Given the description of an element on the screen output the (x, y) to click on. 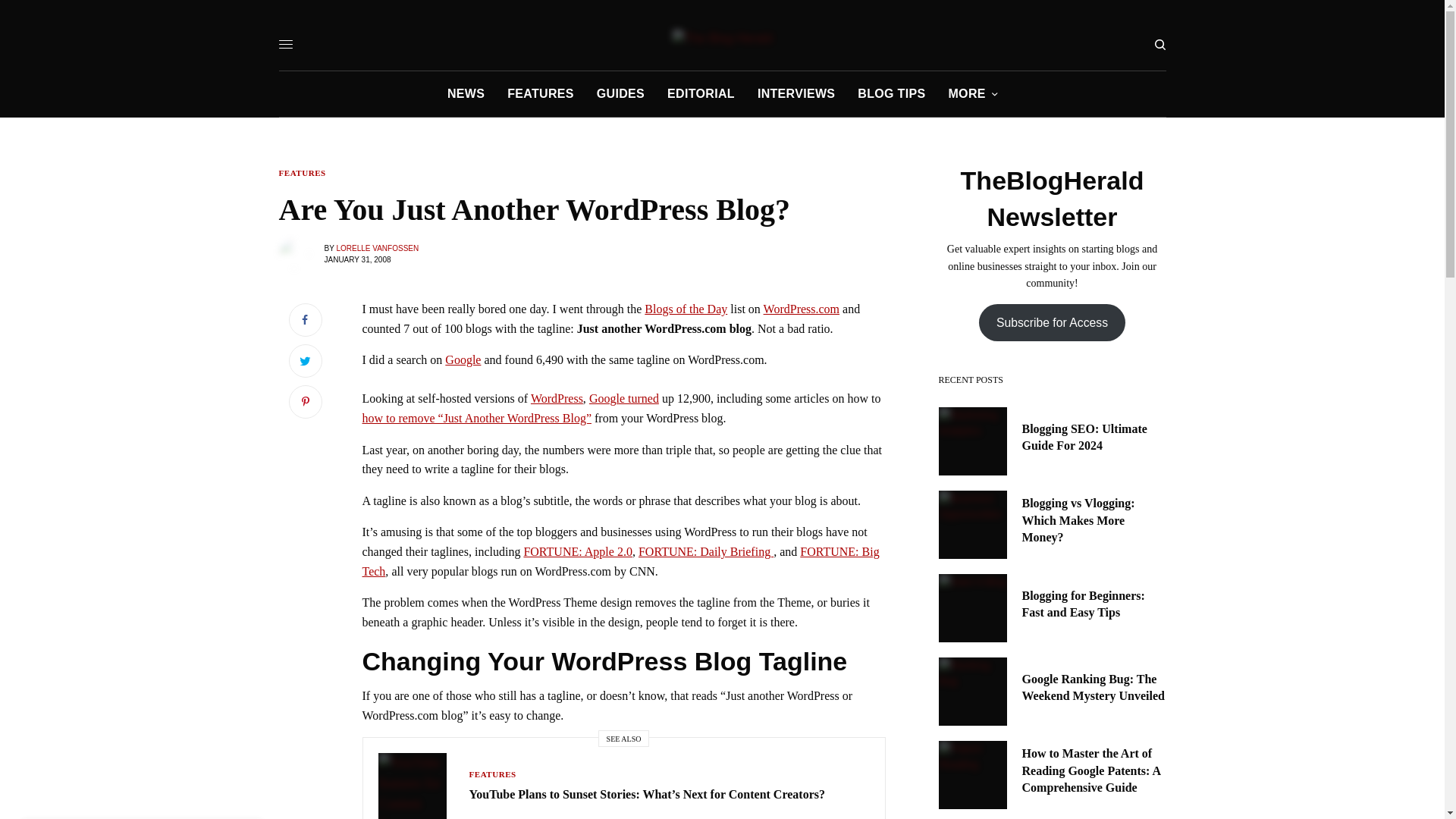
Google search for WordPress taglines (624, 398)
FEATURES (491, 773)
WordPress.com free blogs (801, 308)
Big Tech (620, 561)
Blogs of the Day at WordPress.com (685, 308)
Apple 2.0 (576, 551)
Daily Briefing (706, 551)
Google turned (624, 398)
FORTUNE: Big Tech (620, 561)
GUIDES (620, 94)
